Given the description of an element on the screen output the (x, y) to click on. 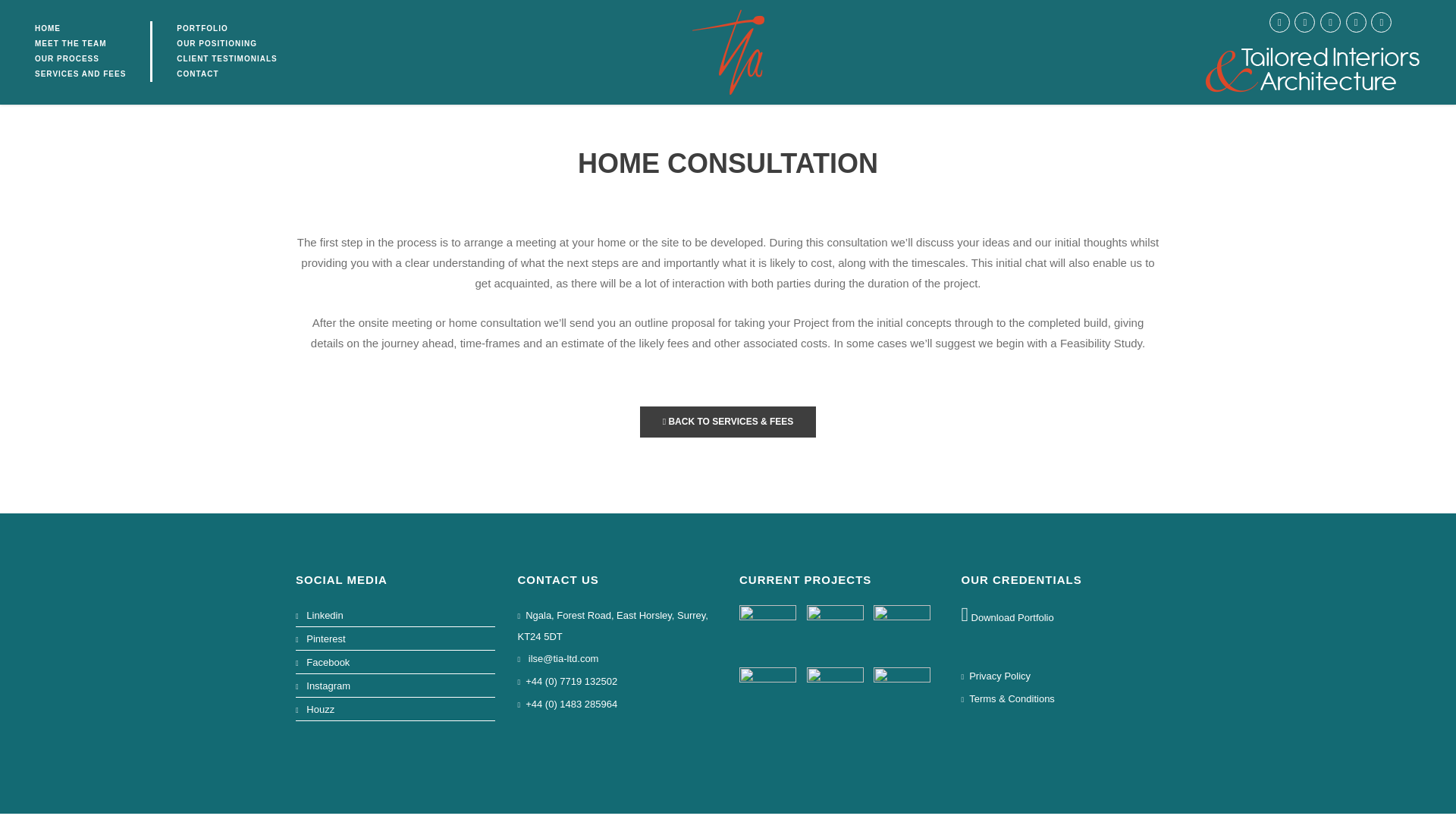
Instagram (327, 685)
West Horsley (836, 695)
Facebook (327, 662)
OUR POSITIONING (238, 43)
Pinterest (325, 638)
Ritchlands (769, 695)
PORTFOLIO (238, 28)
Swanbourne (769, 633)
Linkedin (323, 614)
Dunkirk (836, 633)
